Given the description of an element on the screen output the (x, y) to click on. 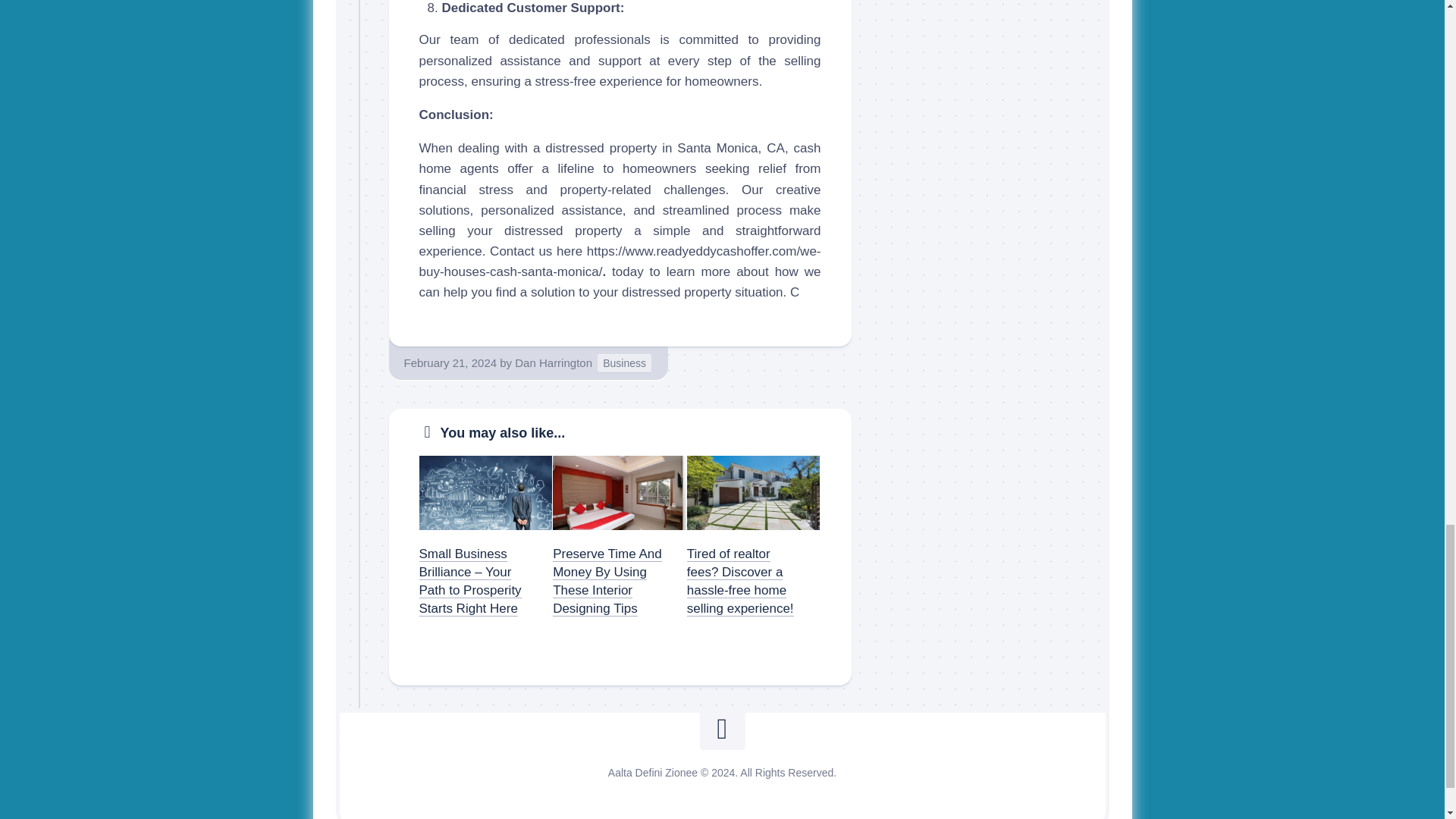
Business (623, 363)
Posts by Dan Harrington (553, 362)
Dan Harrington (553, 362)
